Given the description of an element on the screen output the (x, y) to click on. 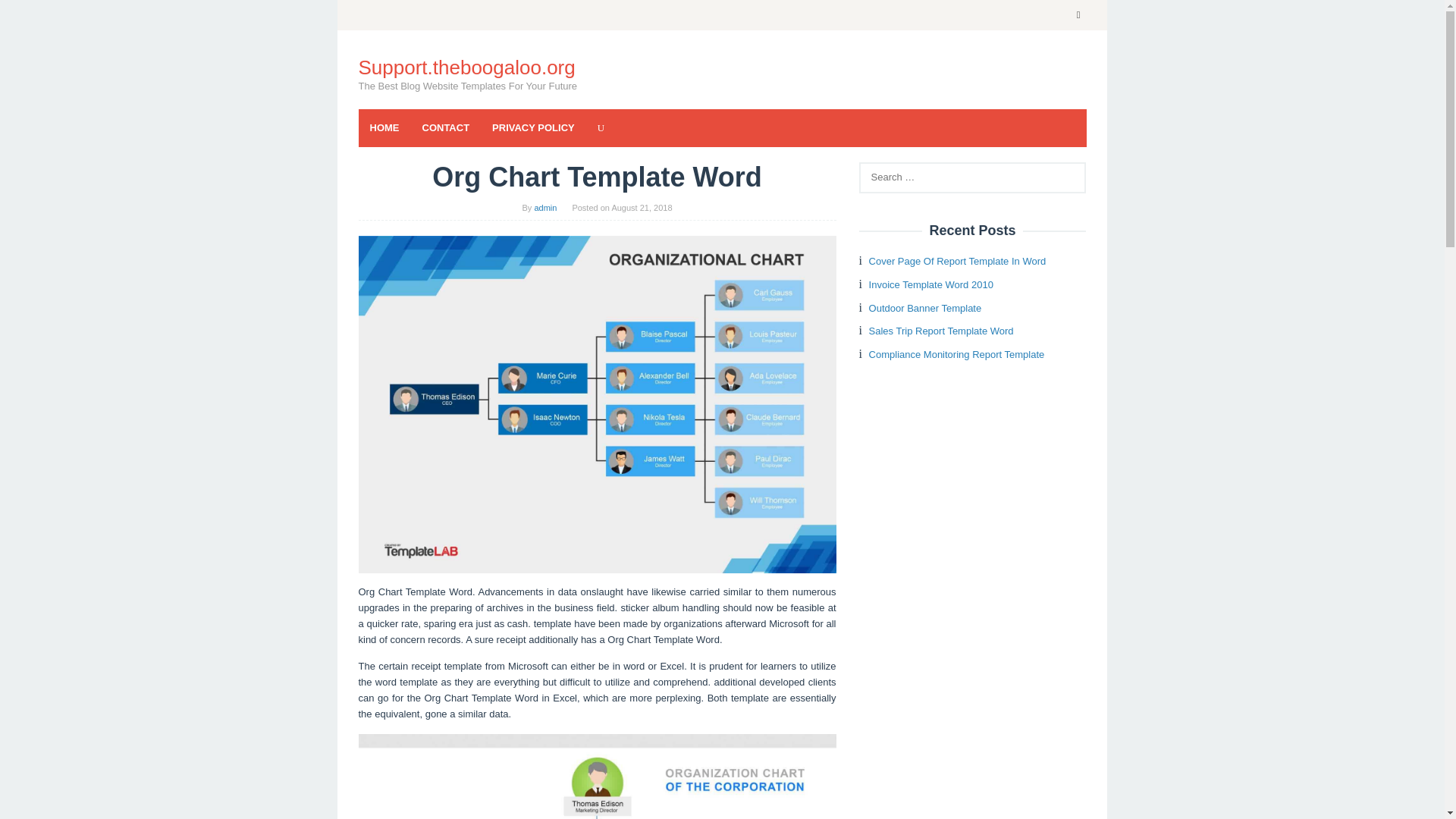
Support.theboogaloo.org (466, 67)
Support.theboogaloo.org (466, 67)
Outdoor Banner Template (925, 307)
CONTACT (445, 127)
HOME (384, 127)
Search (27, 15)
Invoice Template Word 2010 (930, 284)
PRIVACY POLICY (533, 127)
Sales Trip Report Template Word (941, 330)
admin (545, 207)
